Given the description of an element on the screen output the (x, y) to click on. 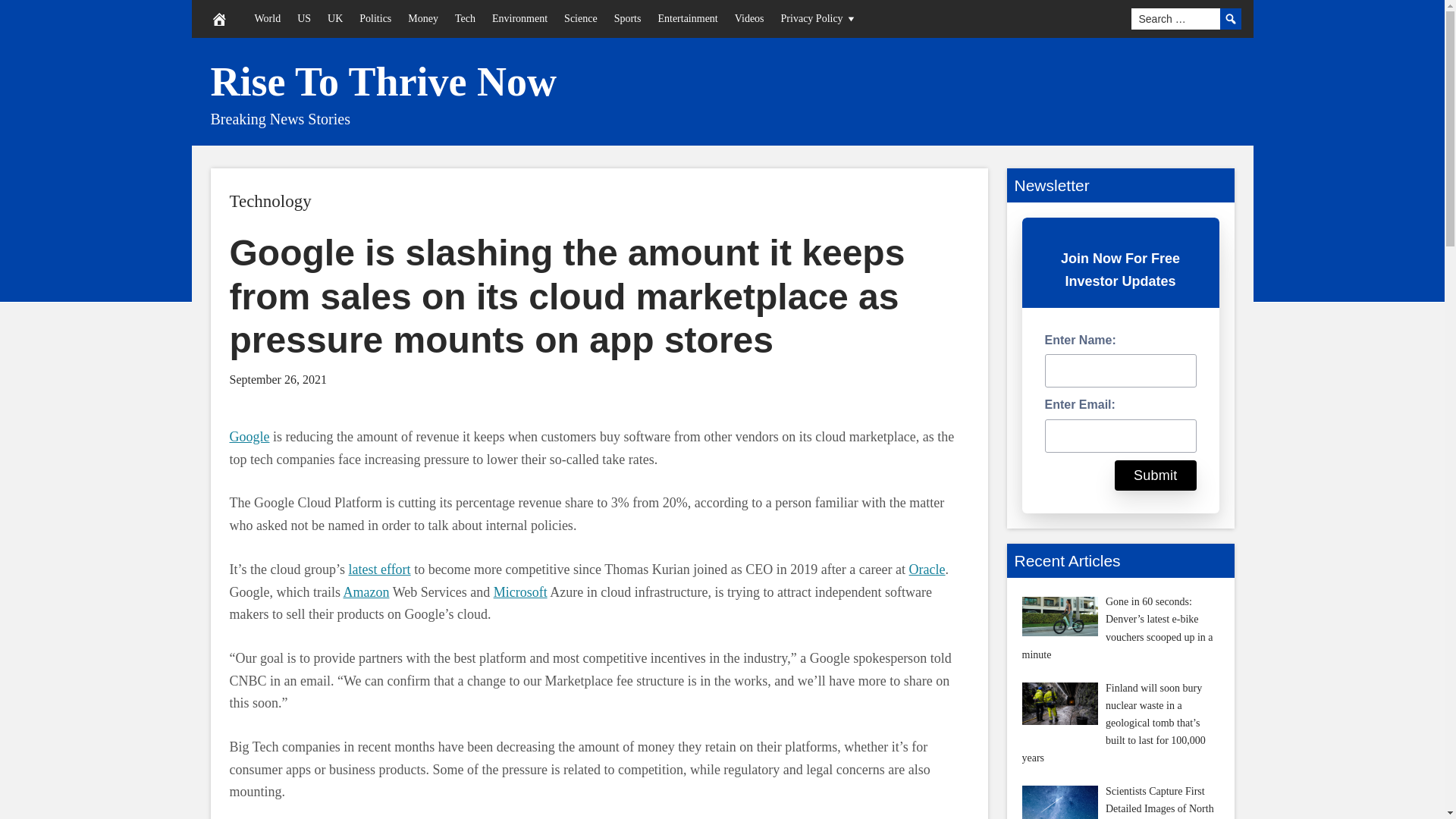
Technology (269, 200)
Entertainment (687, 18)
Privacy Policy (819, 18)
World (267, 18)
Technology (269, 200)
Rise To Thrive Now (384, 81)
Videos (749, 18)
Money (422, 18)
Sports (627, 18)
